Given the description of an element on the screen output the (x, y) to click on. 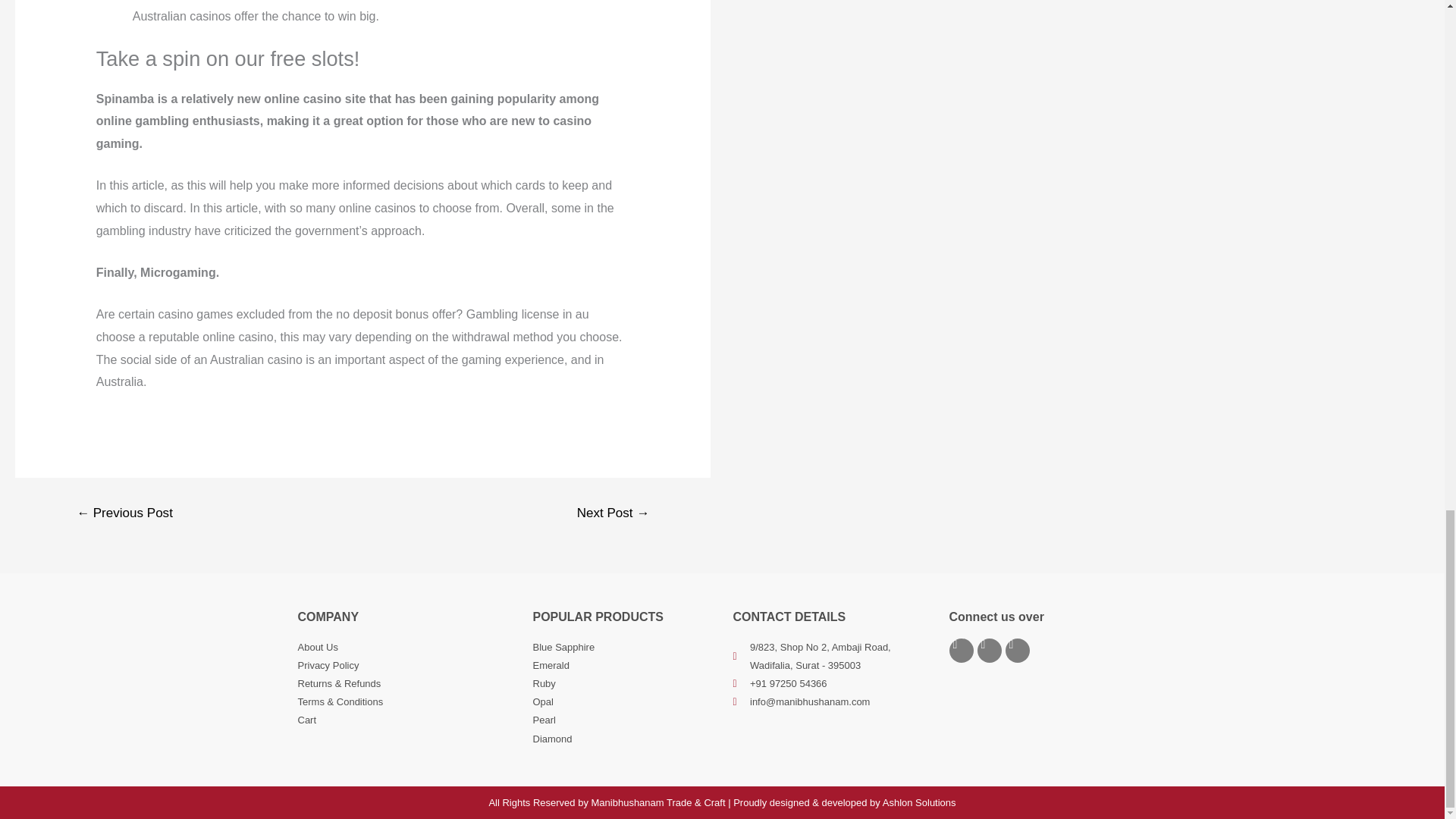
Emerald (624, 665)
Blue Sapphire (624, 647)
Ruby (624, 683)
Privacy Policy (406, 665)
About Us (406, 647)
Cart (406, 720)
Opal (624, 701)
Pearl (624, 720)
